Given the description of an element on the screen output the (x, y) to click on. 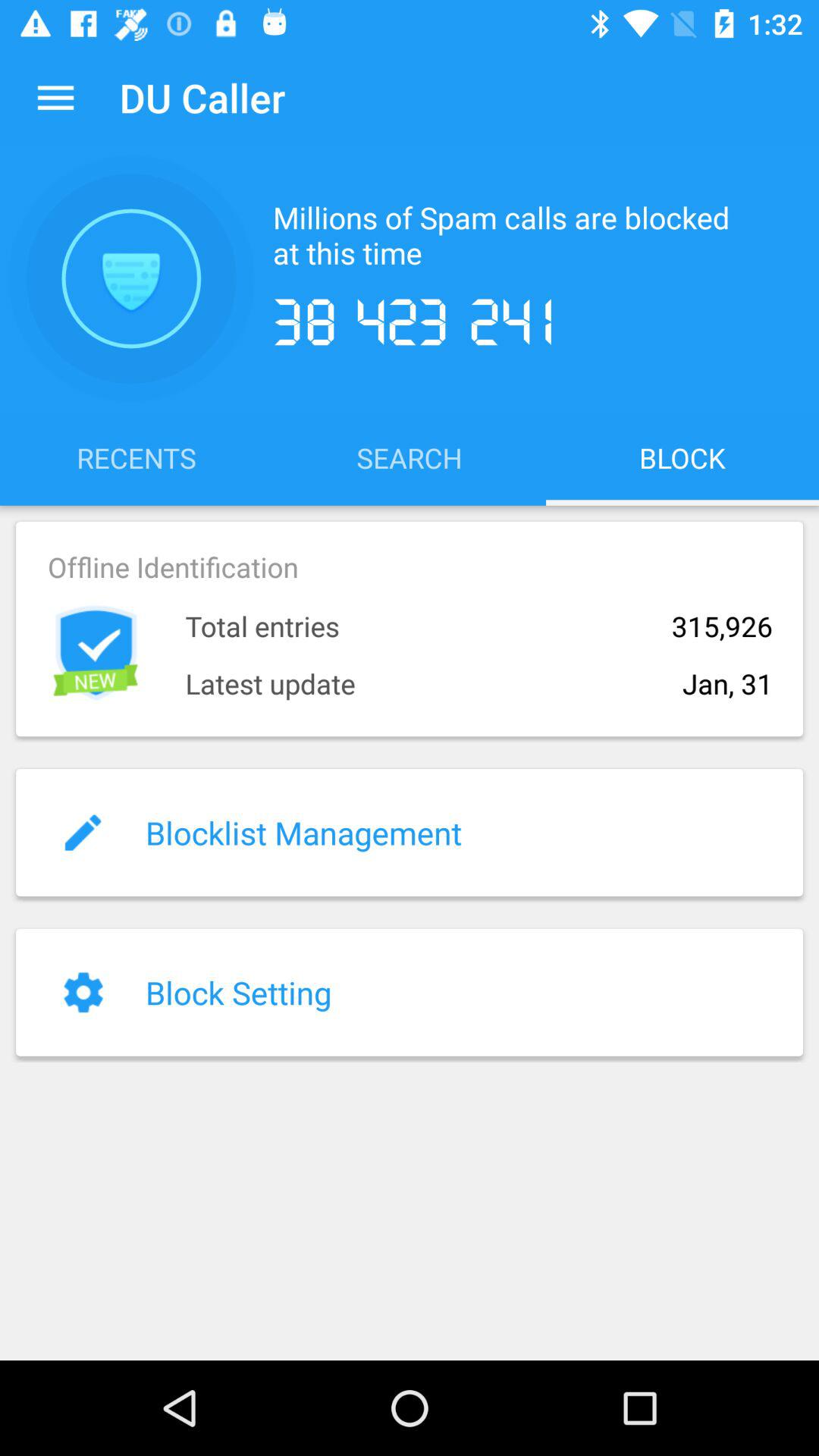
choose app next to du caller (55, 97)
